Given the description of an element on the screen output the (x, y) to click on. 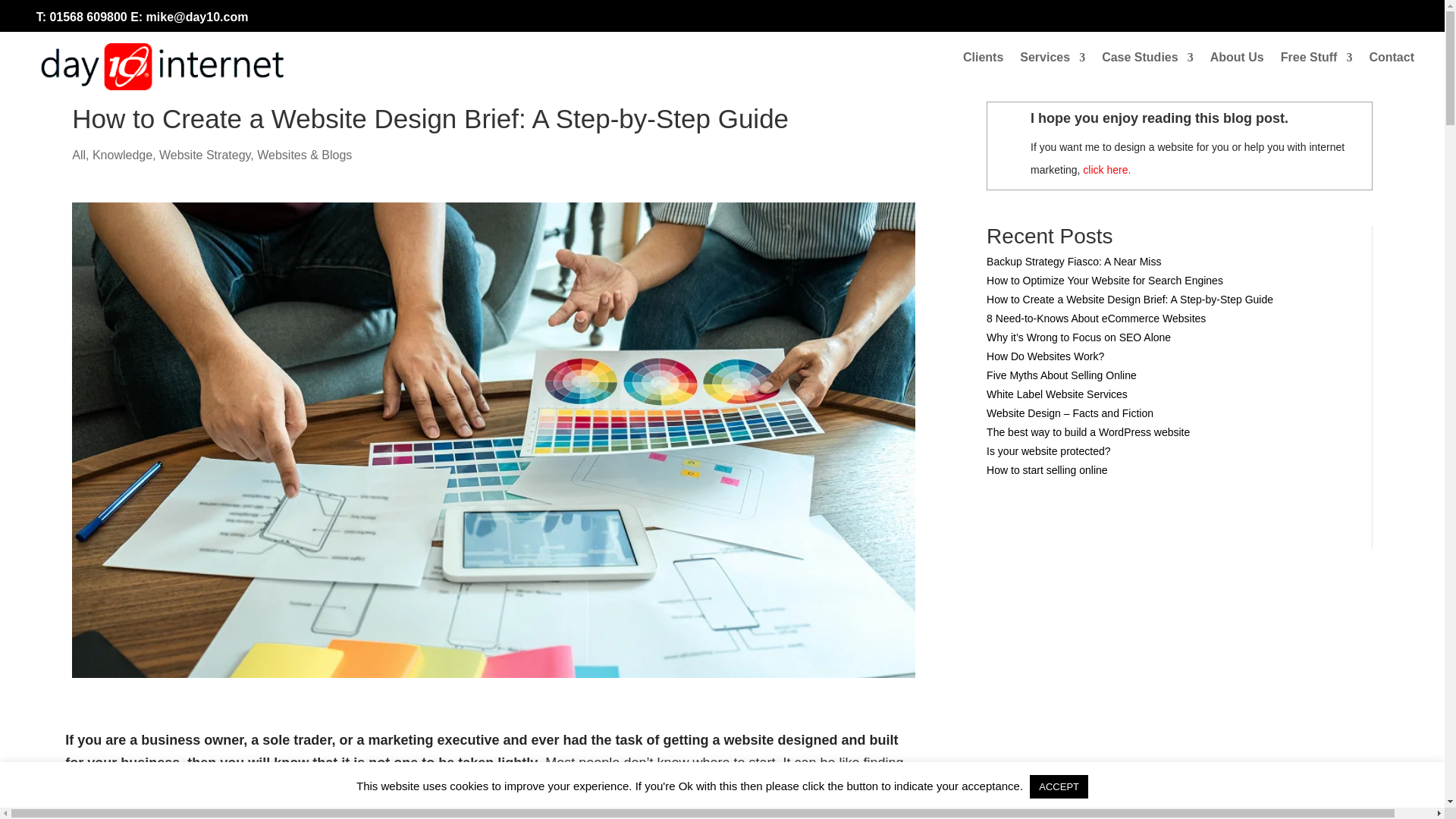
Case Studies (1147, 60)
Contact (1390, 60)
Clients (982, 60)
Free Stuff (1316, 60)
Services (1052, 60)
About Us (1236, 60)
